Given the description of an element on the screen output the (x, y) to click on. 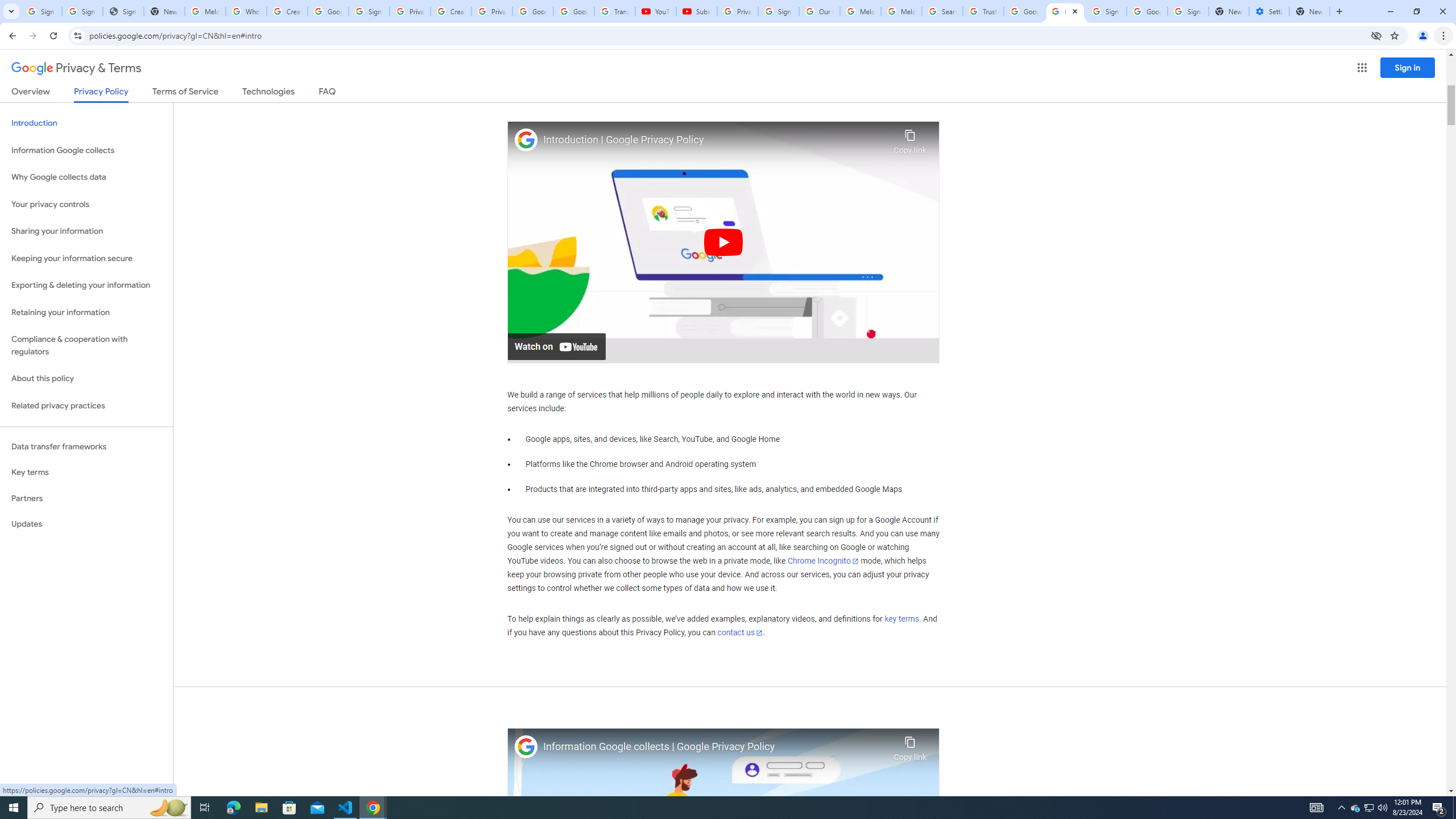
Updates (86, 524)
Sharing your information (86, 230)
Sign in - Google Accounts (1187, 11)
contact us (739, 633)
Sign in - Google Accounts (368, 11)
